Given the description of an element on the screen output the (x, y) to click on. 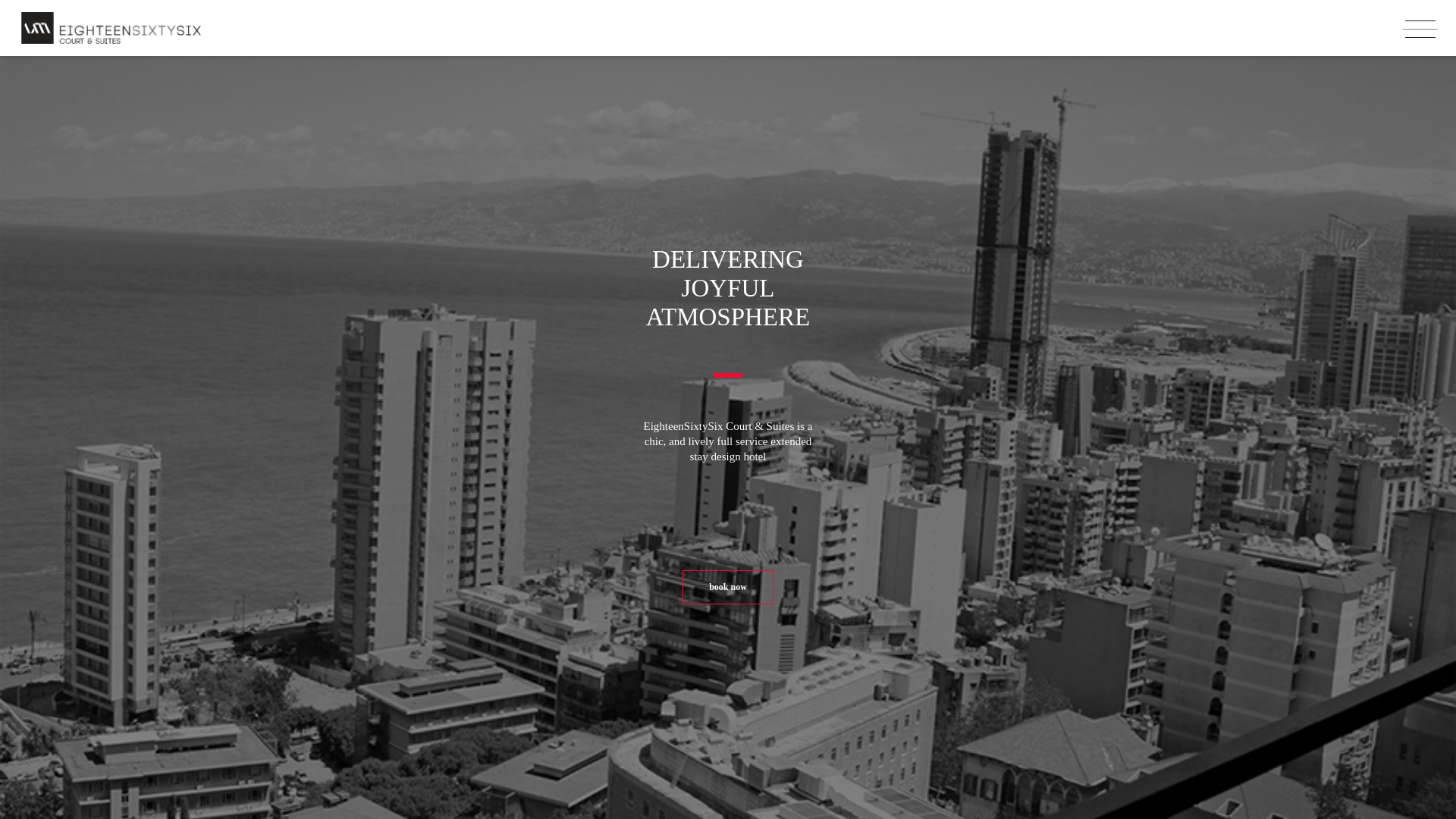
menu Element type: text (1420, 28)
book now Element type: text (727, 587)
